Given the description of an element on the screen output the (x, y) to click on. 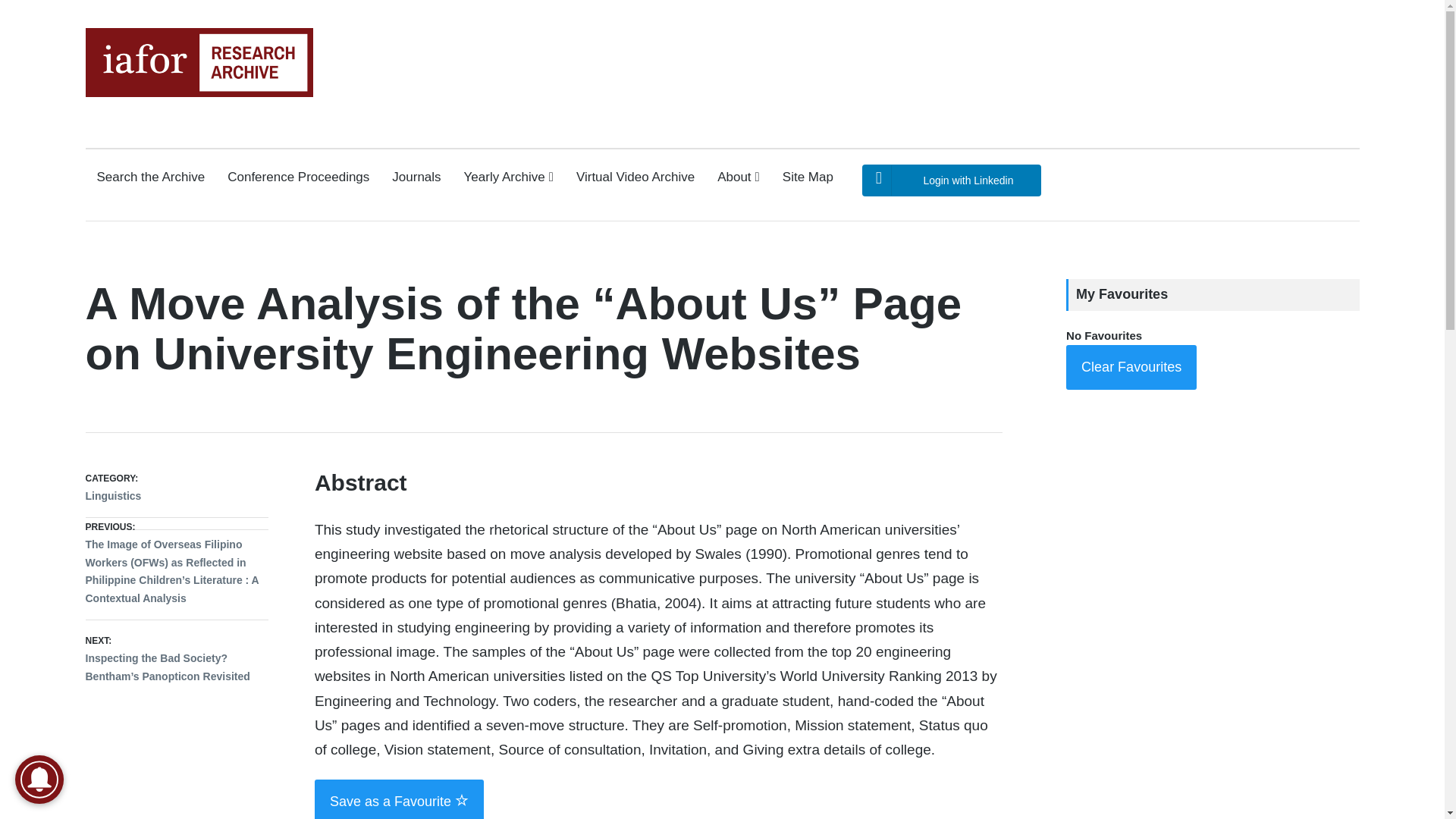
Journals (416, 177)
Conference Proceedings (298, 177)
Yearly Archive (508, 177)
The IAFOR Research Archive (145, 110)
About (738, 177)
Site Map (807, 177)
Login with Linkedin (951, 180)
Search the Archive (151, 177)
Virtual Video Archive (635, 177)
